Given the description of an element on the screen output the (x, y) to click on. 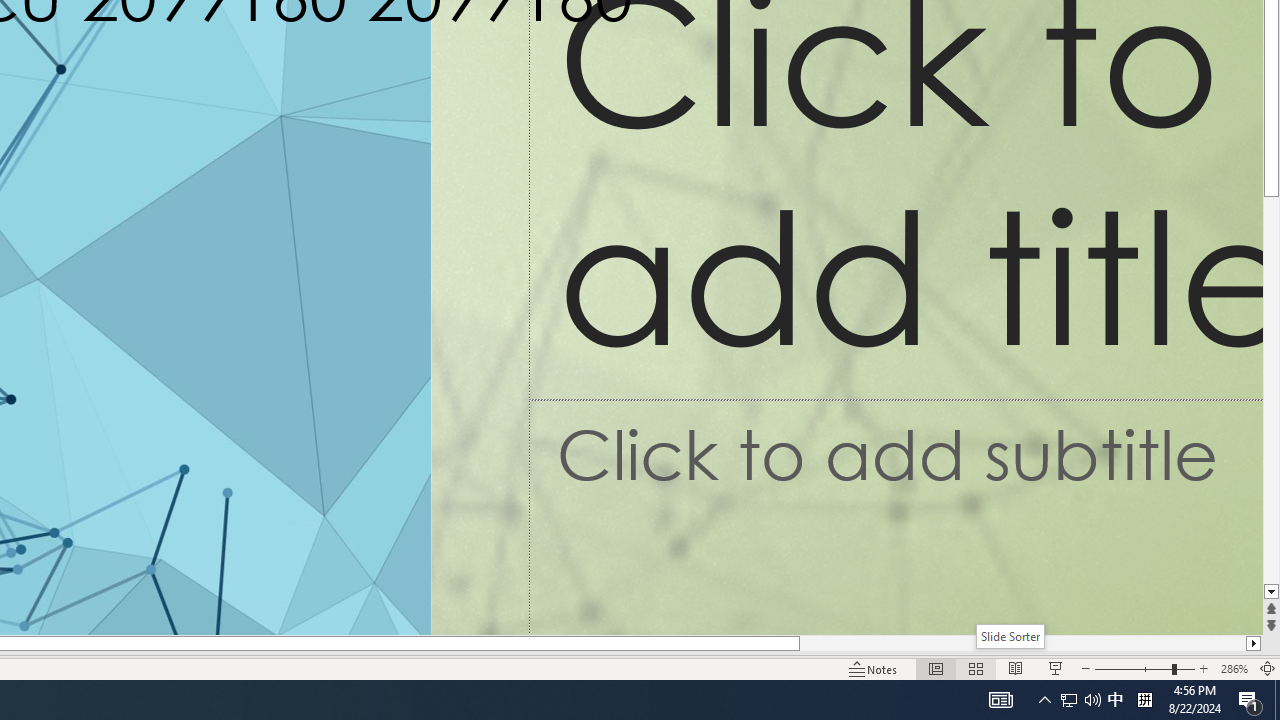
Zoom 286% (1234, 668)
